Given the description of an element on the screen output the (x, y) to click on. 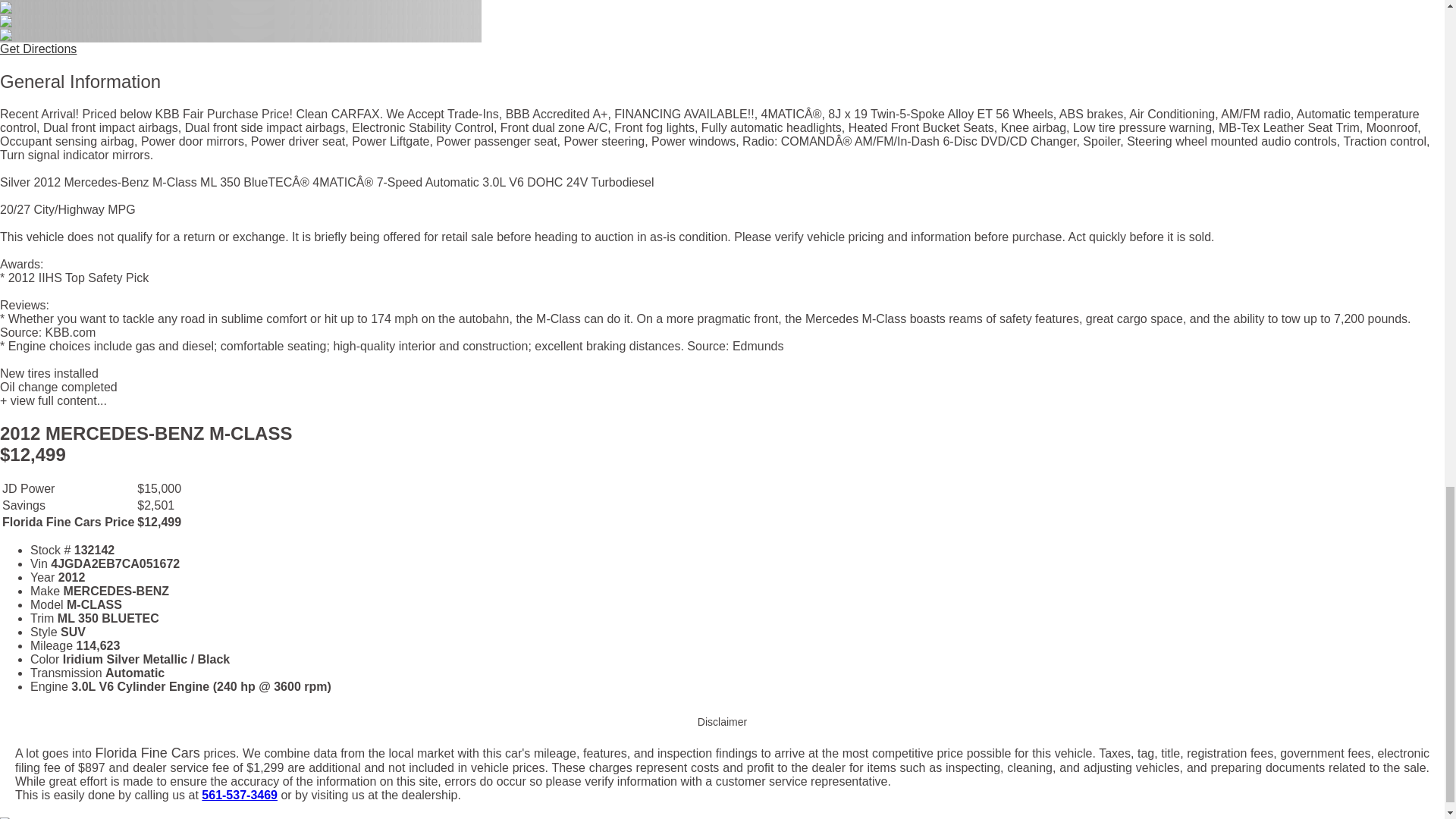
Get Directions (38, 48)
561-537-3469 (240, 794)
